Given the description of an element on the screen output the (x, y) to click on. 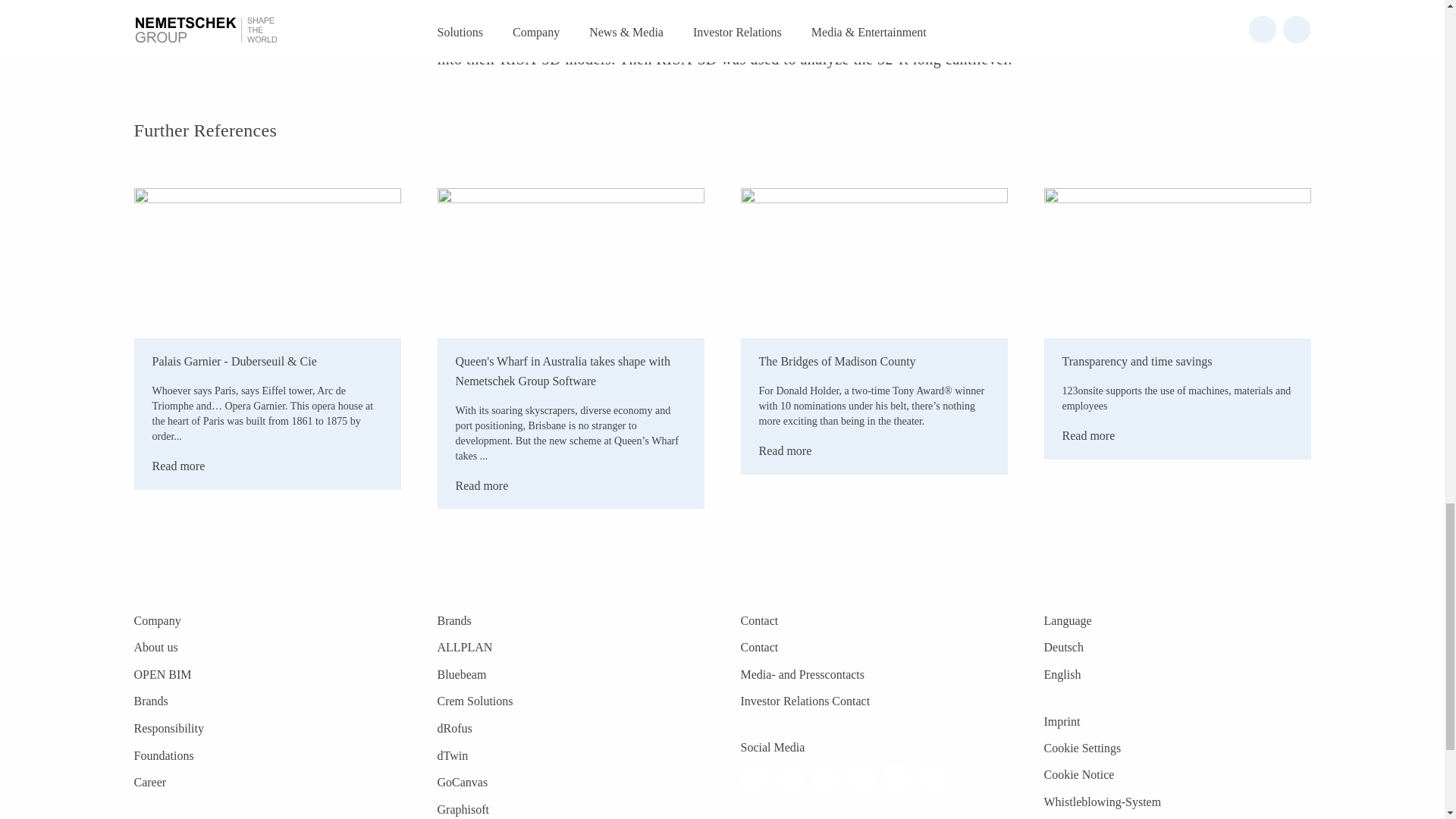
Queens Wharf Brisbane  (569, 263)
